Given the description of an element on the screen output the (x, y) to click on. 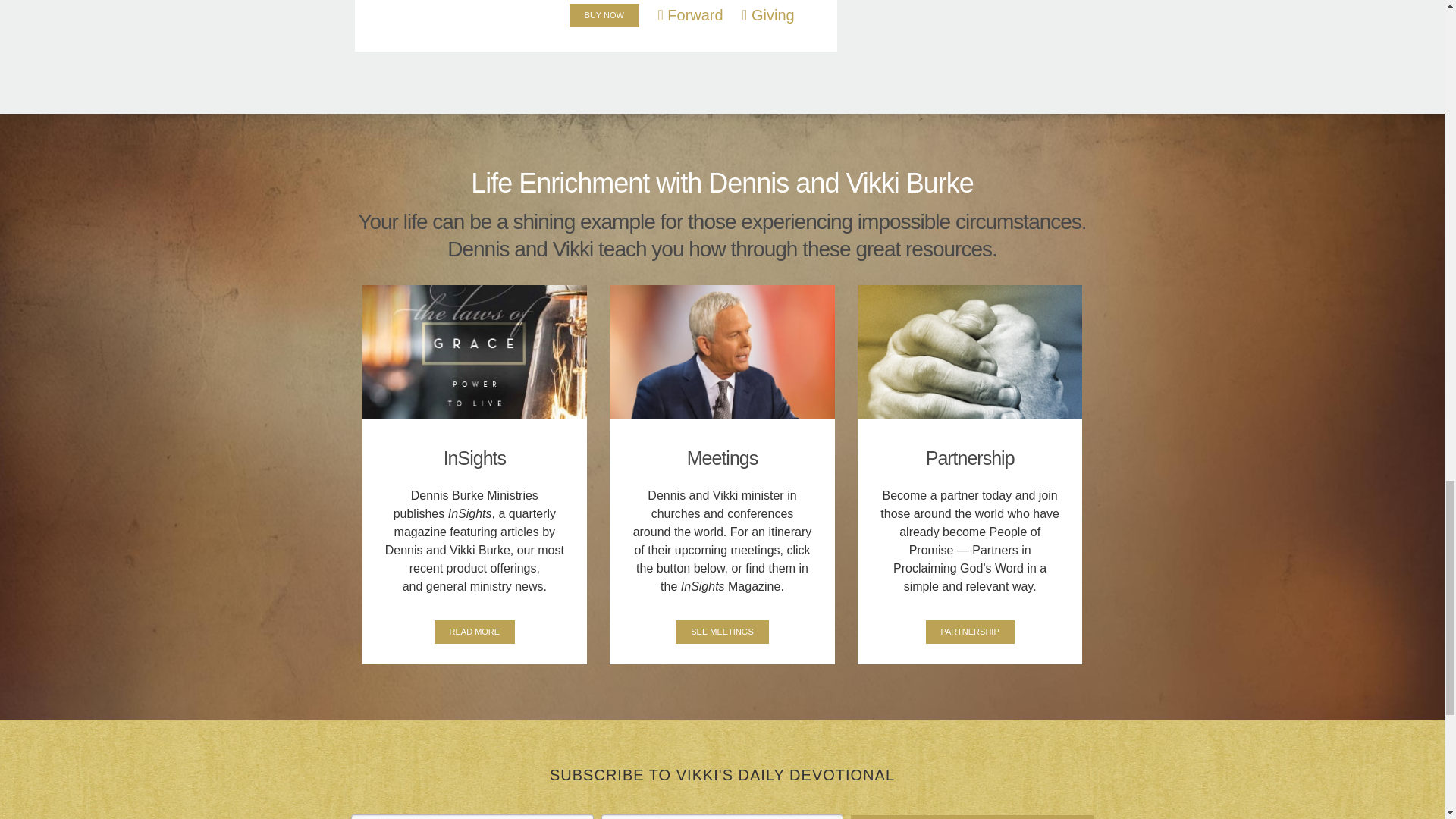
Giving (767, 14)
Forward (690, 14)
Subscribe Now (971, 816)
BUY NOW (604, 15)
